Given the description of an element on the screen output the (x, y) to click on. 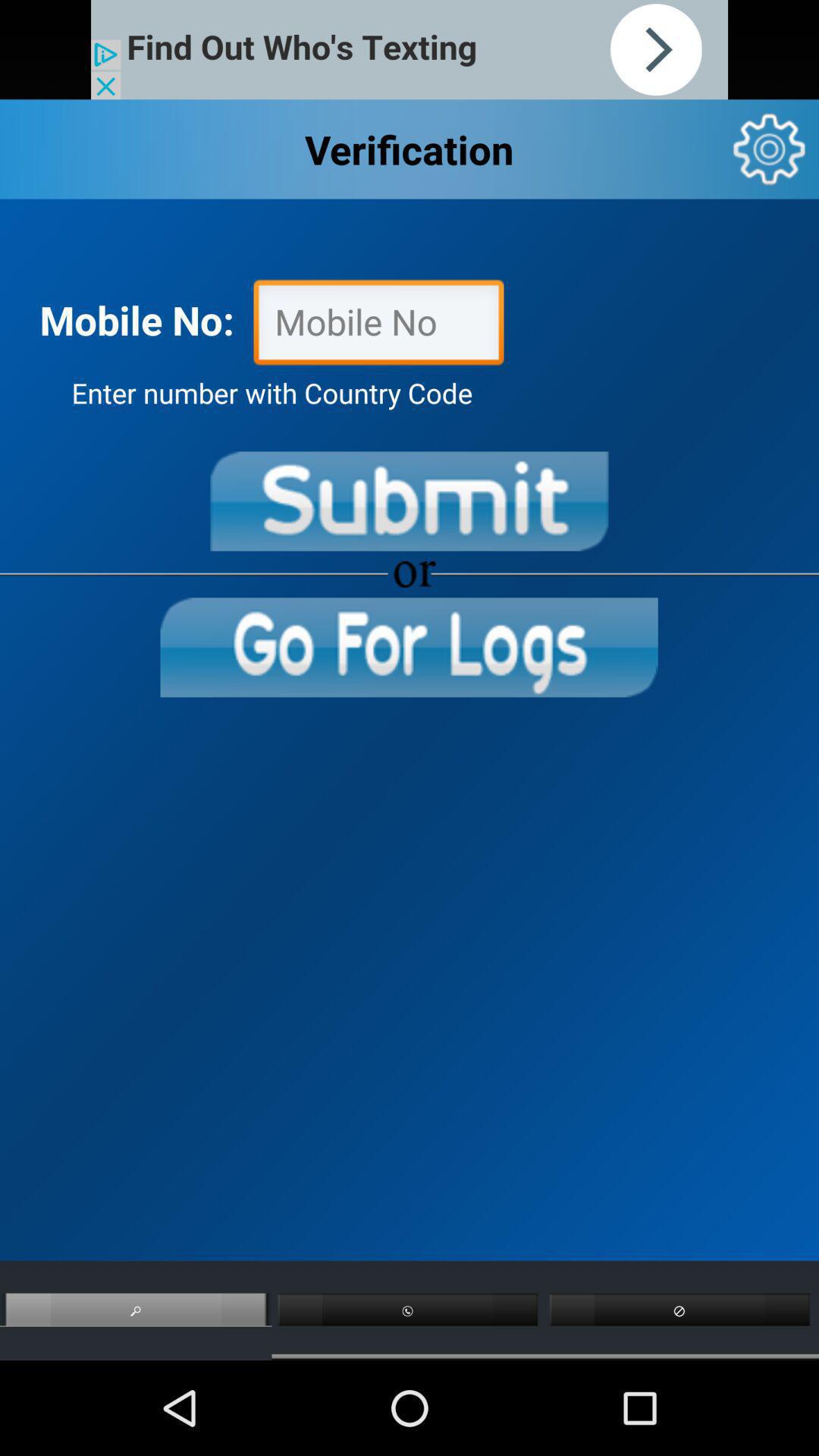
settings (769, 149)
